Given the description of an element on the screen output the (x, y) to click on. 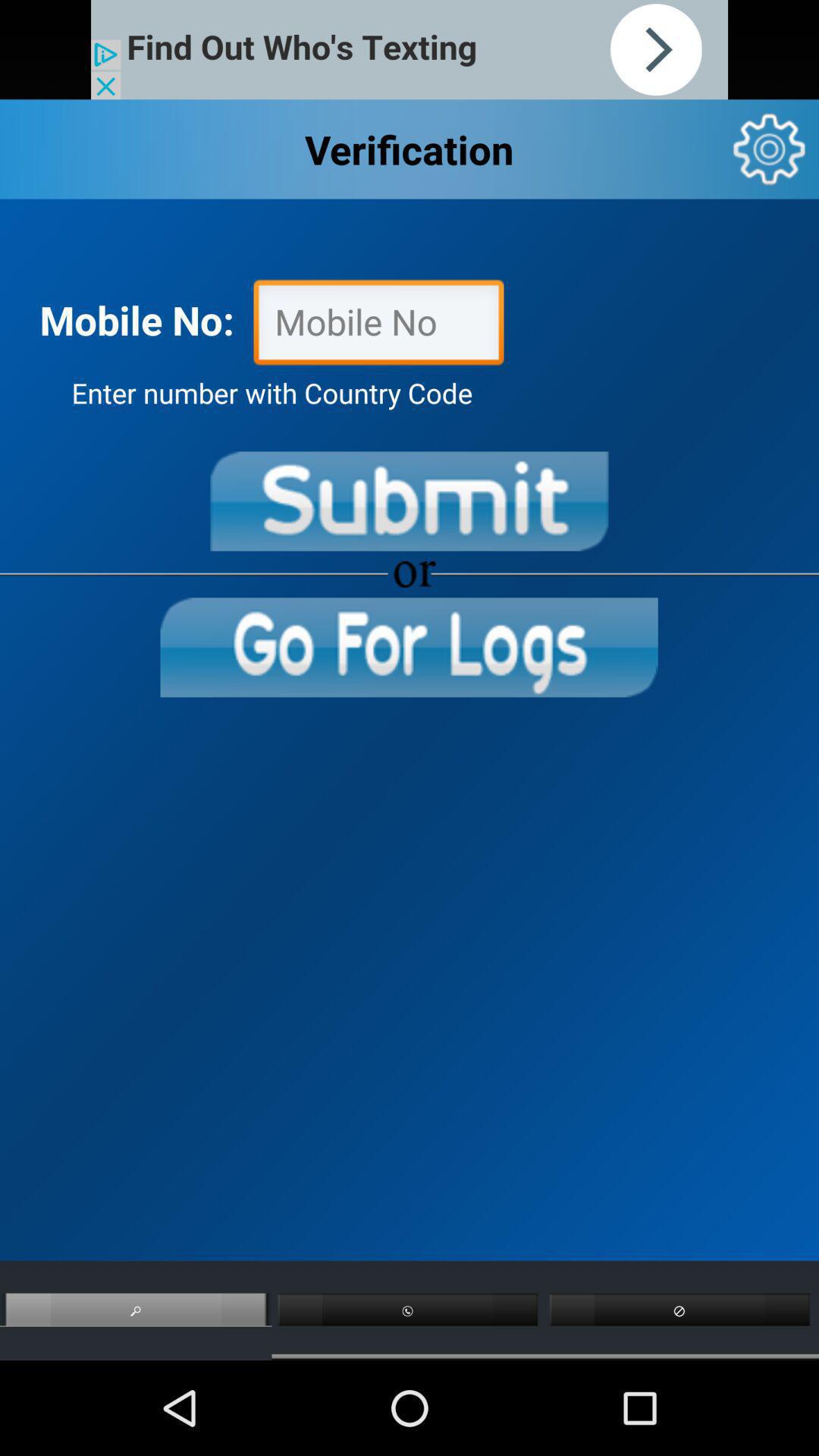
settings (769, 149)
